Given the description of an element on the screen output the (x, y) to click on. 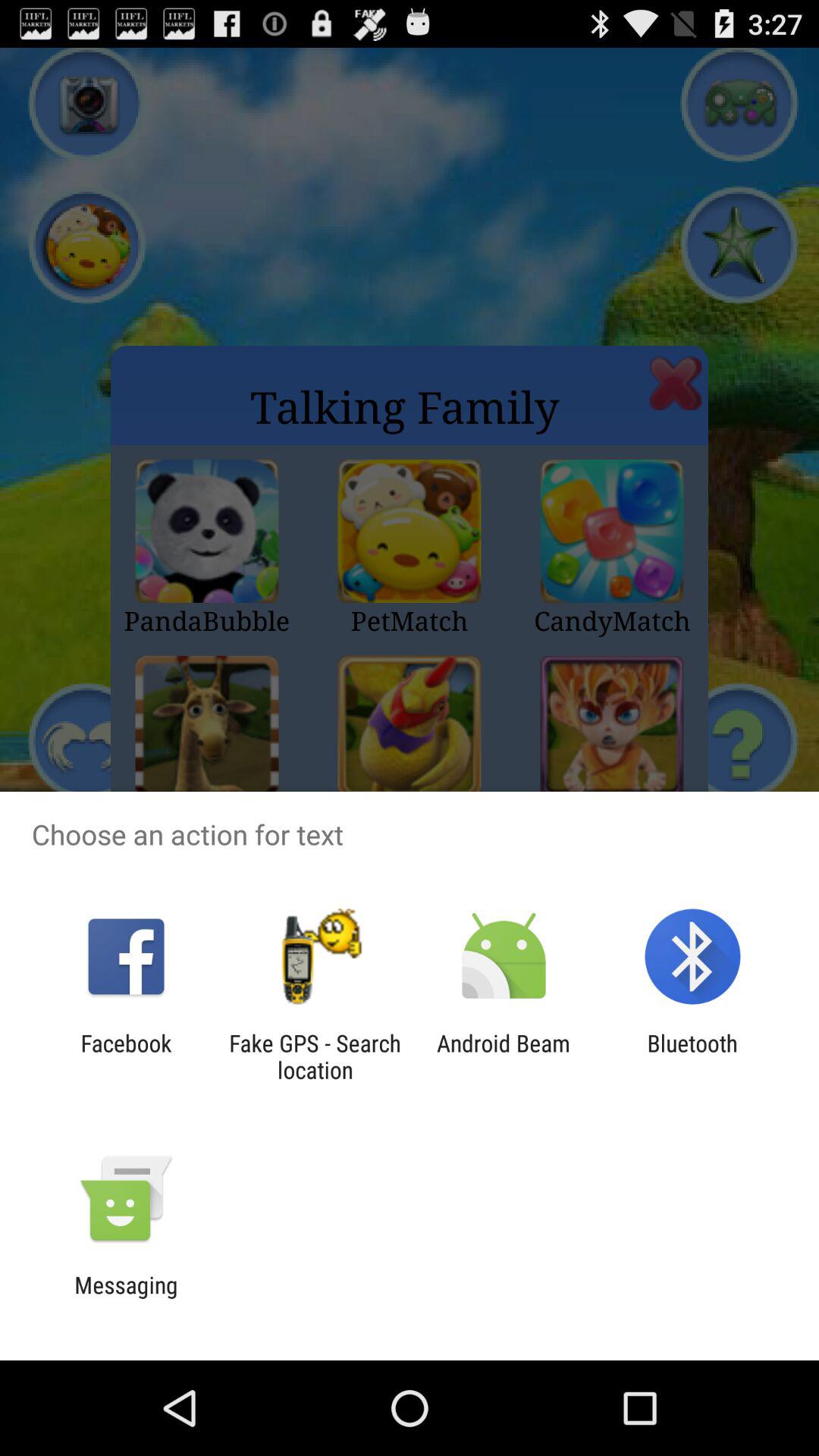
press fake gps search icon (314, 1056)
